Given the description of an element on the screen output the (x, y) to click on. 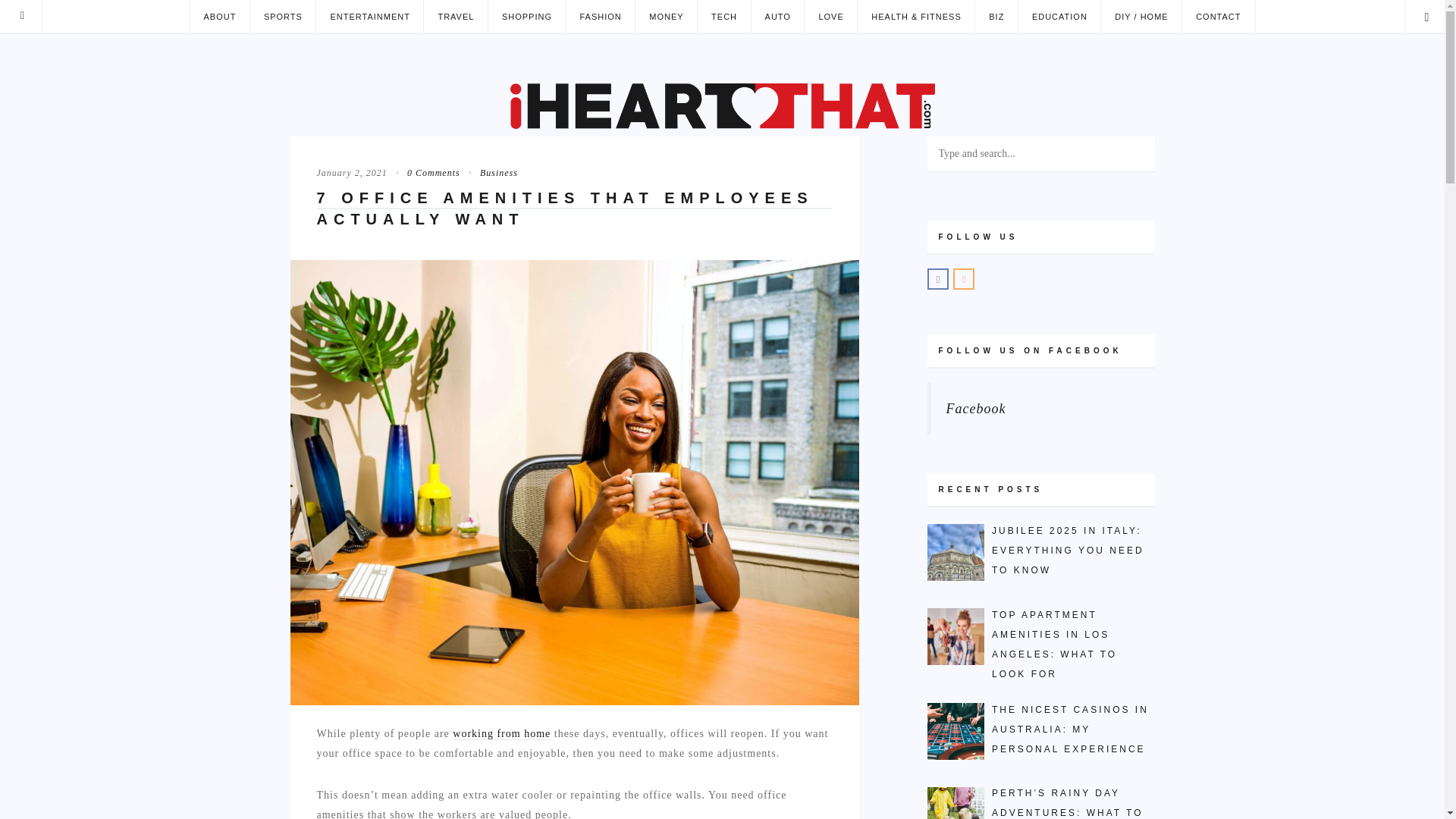
EDUCATION (1058, 16)
SPORTS (281, 16)
BIZ (995, 16)
Business (490, 172)
ABOUT (218, 16)
CONTACT (1217, 16)
MONEY (665, 16)
working from home (501, 734)
LOVE (830, 16)
AUTO (778, 16)
